Given the description of an element on the screen output the (x, y) to click on. 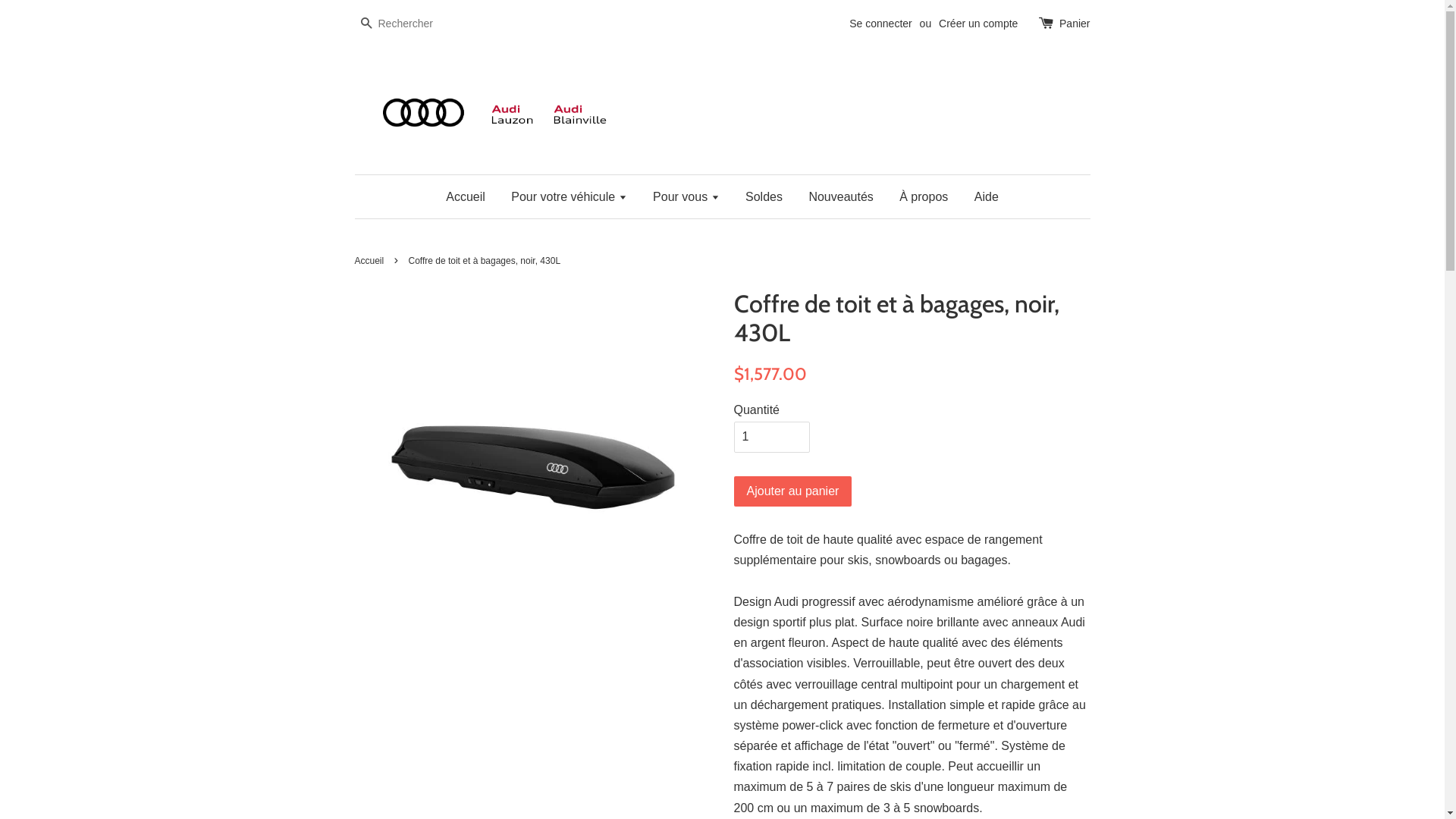
Recherche Element type: text (365, 24)
Pour vous Element type: text (685, 196)
Accueil Element type: text (371, 260)
Se connecter Element type: text (880, 23)
Accueil Element type: text (470, 196)
Soldes Element type: text (763, 196)
Aide Element type: text (980, 196)
Panier Element type: text (1074, 24)
Ajouter au panier Element type: text (793, 491)
